Given the description of an element on the screen output the (x, y) to click on. 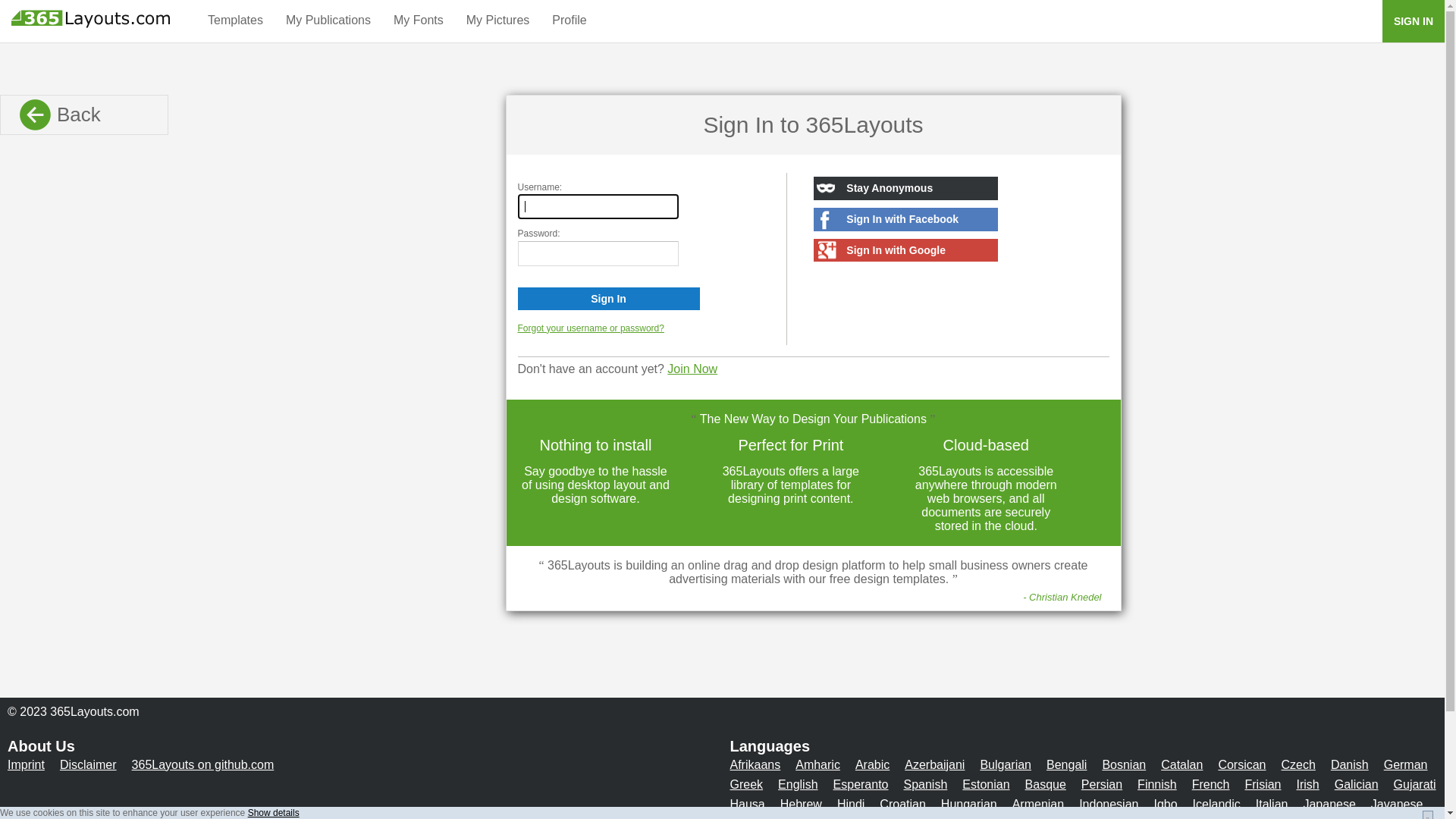
Basque Element type: text (1045, 784)
Finnish Element type: text (1156, 784)
Frisian Element type: text (1262, 784)
Danish Element type: text (1349, 764)
Javanese Element type: text (1397, 803)
Disclaimer Element type: text (87, 764)
Sign In with Google Element type: text (904, 250)
Bulgarian Element type: text (1005, 764)
My Pictures Element type: text (498, 19)
Croatian Element type: text (902, 803)
Forgot your username or password? Element type: text (590, 328)
Join Now Element type: text (692, 368)
Afrikaans Element type: text (754, 764)
Czech Element type: text (1298, 764)
Back Element type: text (83, 114)
Sign In with Facebook Element type: text (904, 219)
Bosnian Element type: text (1123, 764)
My Publications Element type: text (327, 19)
Italian Element type: text (1271, 803)
Greek Element type: text (745, 784)
Japanese Element type: text (1328, 803)
Galician Element type: text (1356, 784)
Hebrew Element type: text (801, 803)
French Element type: text (1211, 784)
Sign In Element type: text (608, 298)
Stay Anonymous Element type: text (904, 188)
Igbo Element type: text (1164, 803)
Arabic Element type: text (872, 764)
Indonesian Element type: text (1108, 803)
Esperanto Element type: text (860, 784)
Persian Element type: text (1101, 784)
Armenian Element type: text (1037, 803)
365Layouts on github.com Element type: text (202, 764)
Profile Element type: text (569, 19)
Bengali Element type: text (1066, 764)
Templates Element type: text (235, 19)
SIGN IN Element type: text (1413, 21)
English Element type: text (797, 784)
Gujarati Element type: text (1414, 784)
Hindi Element type: text (850, 803)
Icelandic Element type: text (1216, 803)
German Element type: text (1405, 764)
My Fonts Element type: text (418, 19)
Hungarian Element type: text (969, 803)
Corsican Element type: text (1241, 764)
Show details Element type: text (273, 812)
Irish Element type: text (1307, 784)
Estonian Element type: text (985, 784)
Hausa Element type: text (746, 803)
Azerbaijani Element type: text (934, 764)
Catalan Element type: text (1181, 764)
Spanish Element type: text (925, 784)
Imprint Element type: text (25, 764)
Amharic Element type: text (817, 764)
